Given the description of an element on the screen output the (x, y) to click on. 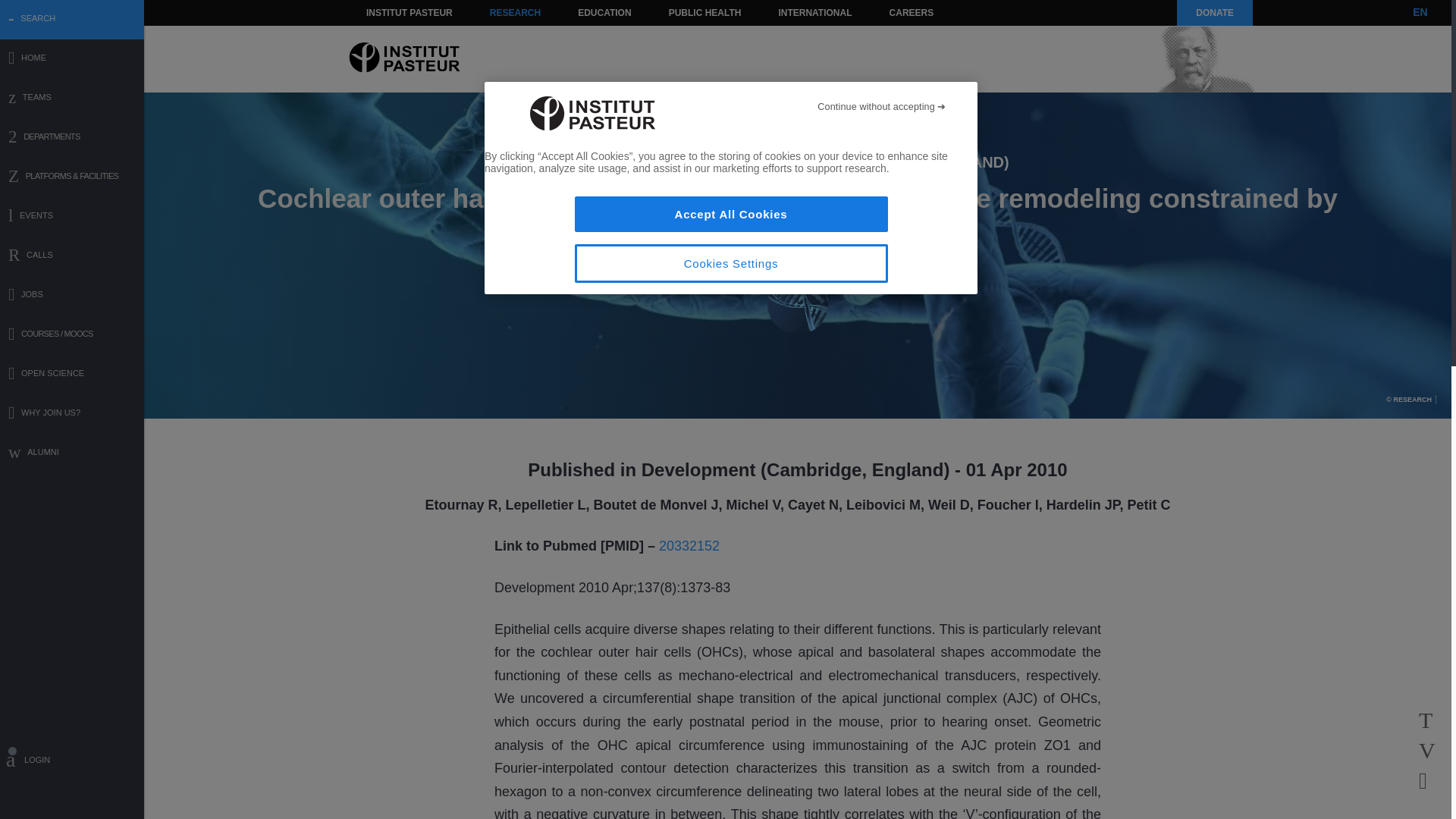
INSTITUT PASTEUR (409, 12)
PUBLIC HEALTH (705, 12)
TEAMS (72, 98)
Skip to content (387, 11)
DONATE (1214, 12)
ALUMNI (72, 454)
DEPARTMENTS (72, 137)
OPEN SCIENCE (72, 374)
INTERNATIONAL (814, 12)
WHY JOIN US? (72, 413)
